Given the description of an element on the screen output the (x, y) to click on. 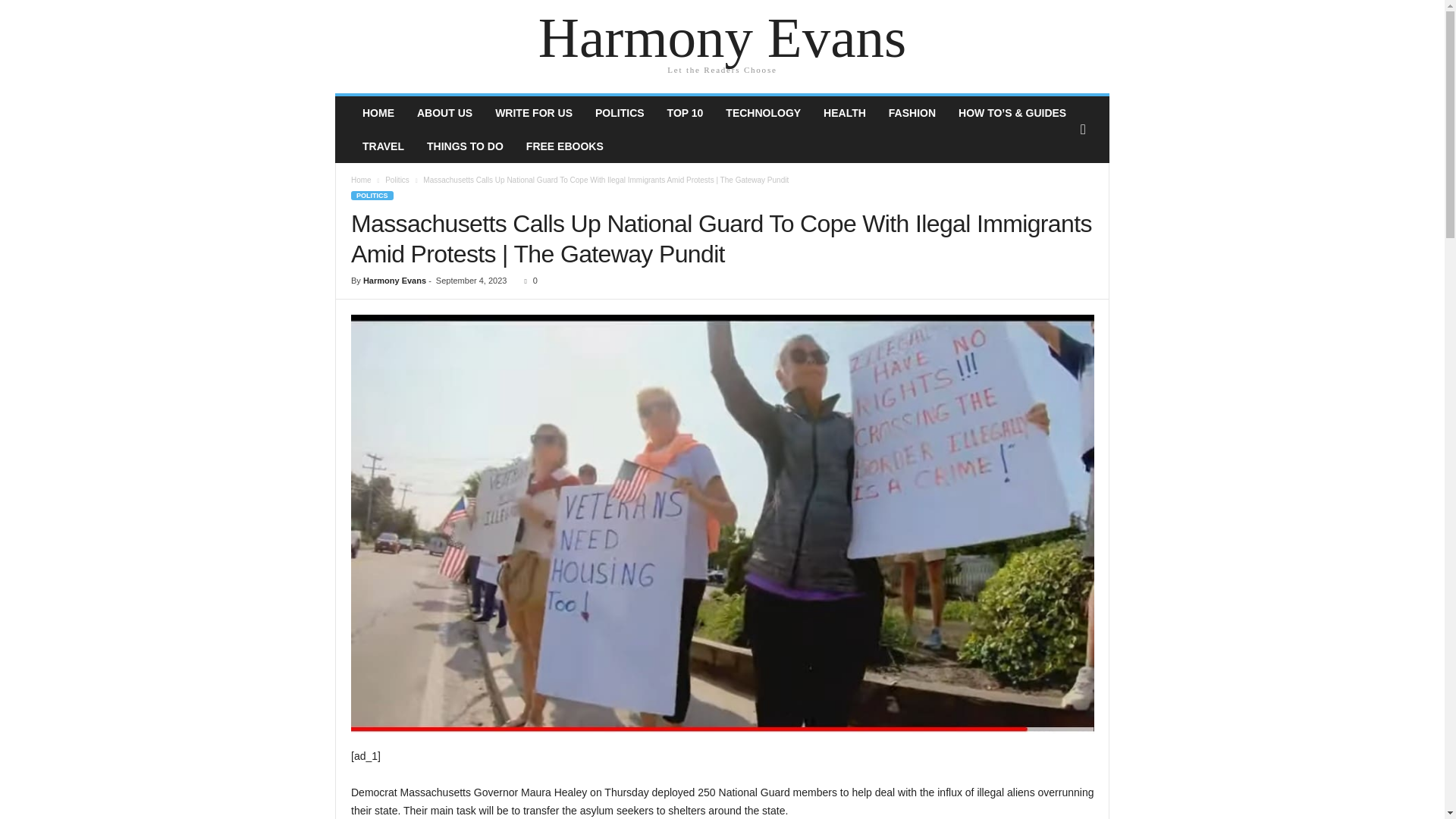
0 (527, 280)
ABOUT US (444, 112)
HOME (378, 112)
TRAVEL (382, 145)
Home (360, 180)
View all posts in Politics (397, 180)
POLITICS (619, 112)
FASHION (912, 112)
TECHNOLOGY (763, 112)
Politics (397, 180)
Harmony Evans (721, 38)
THINGS TO DO (464, 145)
HEALTH (844, 112)
TOP 10 (685, 112)
FREE EBOOKS (564, 145)
